Given the description of an element on the screen output the (x, y) to click on. 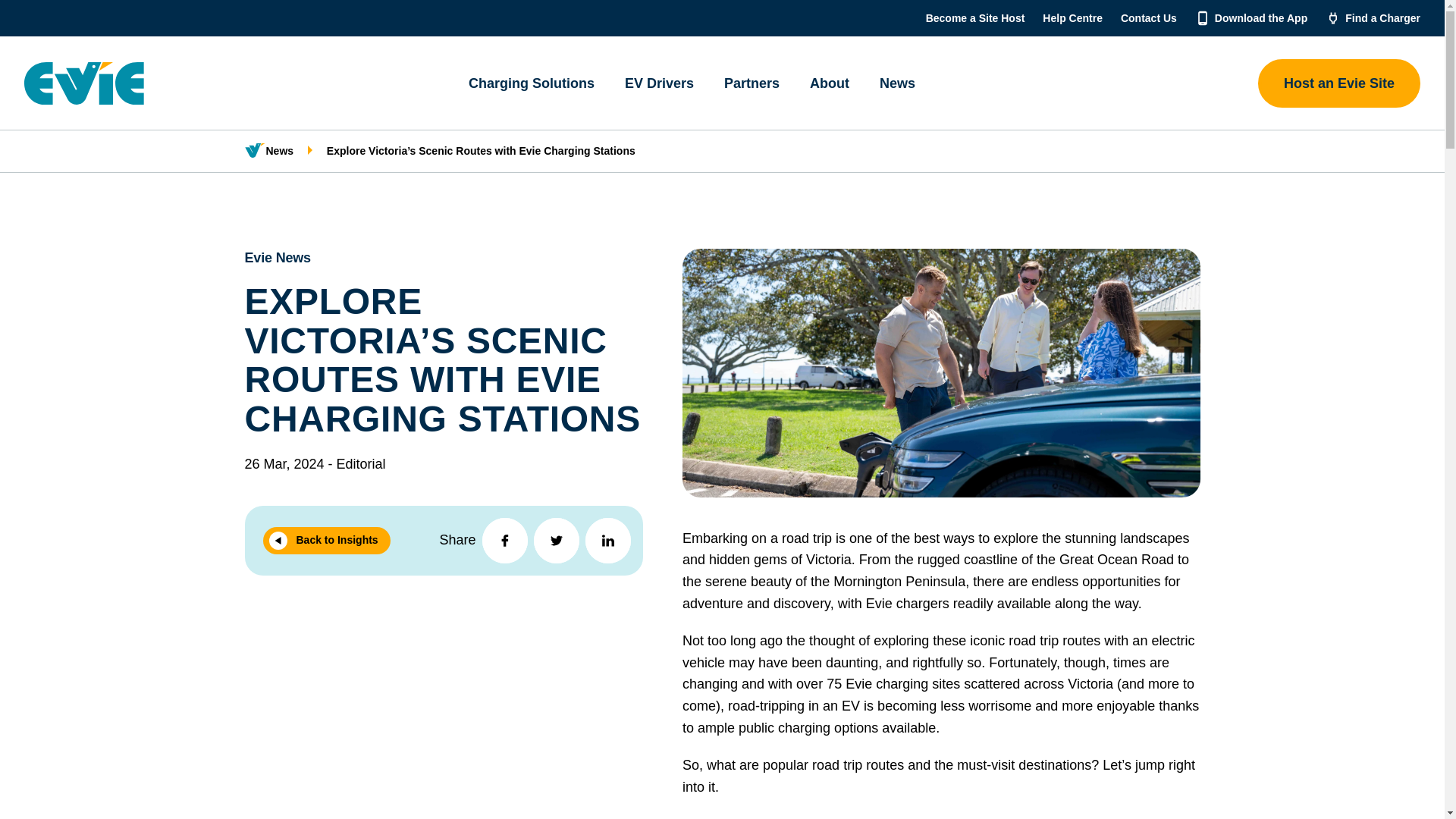
Download the App (1260, 18)
VIC blog image (940, 372)
Help Centre (1072, 18)
Become a Site Host (975, 18)
Find a Charger (1383, 18)
Charging Solutions (531, 82)
EV Drivers (659, 82)
Partners (751, 82)
Contact Us (1148, 18)
Host an Evie Site (1339, 82)
